Given the description of an element on the screen output the (x, y) to click on. 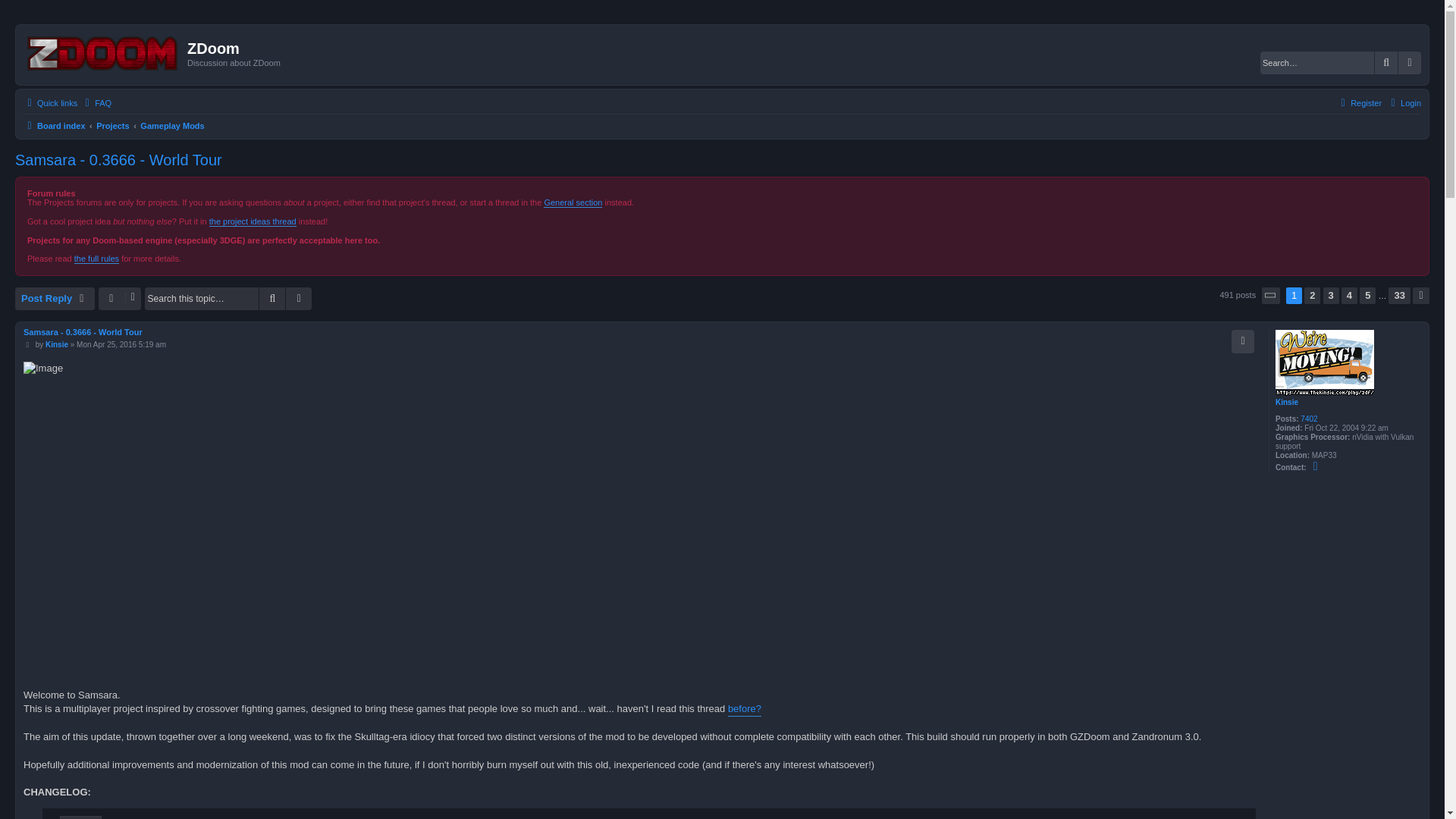
7402 (1308, 419)
Frequently Asked Questions (96, 103)
Register (1358, 103)
Projects (112, 126)
Login (1404, 103)
3 (1331, 295)
Advanced search (1409, 62)
Search (1385, 62)
Samsara - 0.3666 - World Tour (118, 159)
Advanced search (1409, 62)
Topic tools (120, 298)
Board index (54, 126)
Post a reply (54, 298)
Contact Kinsie (1315, 466)
Kinsie (1286, 402)
